Given the description of an element on the screen output the (x, y) to click on. 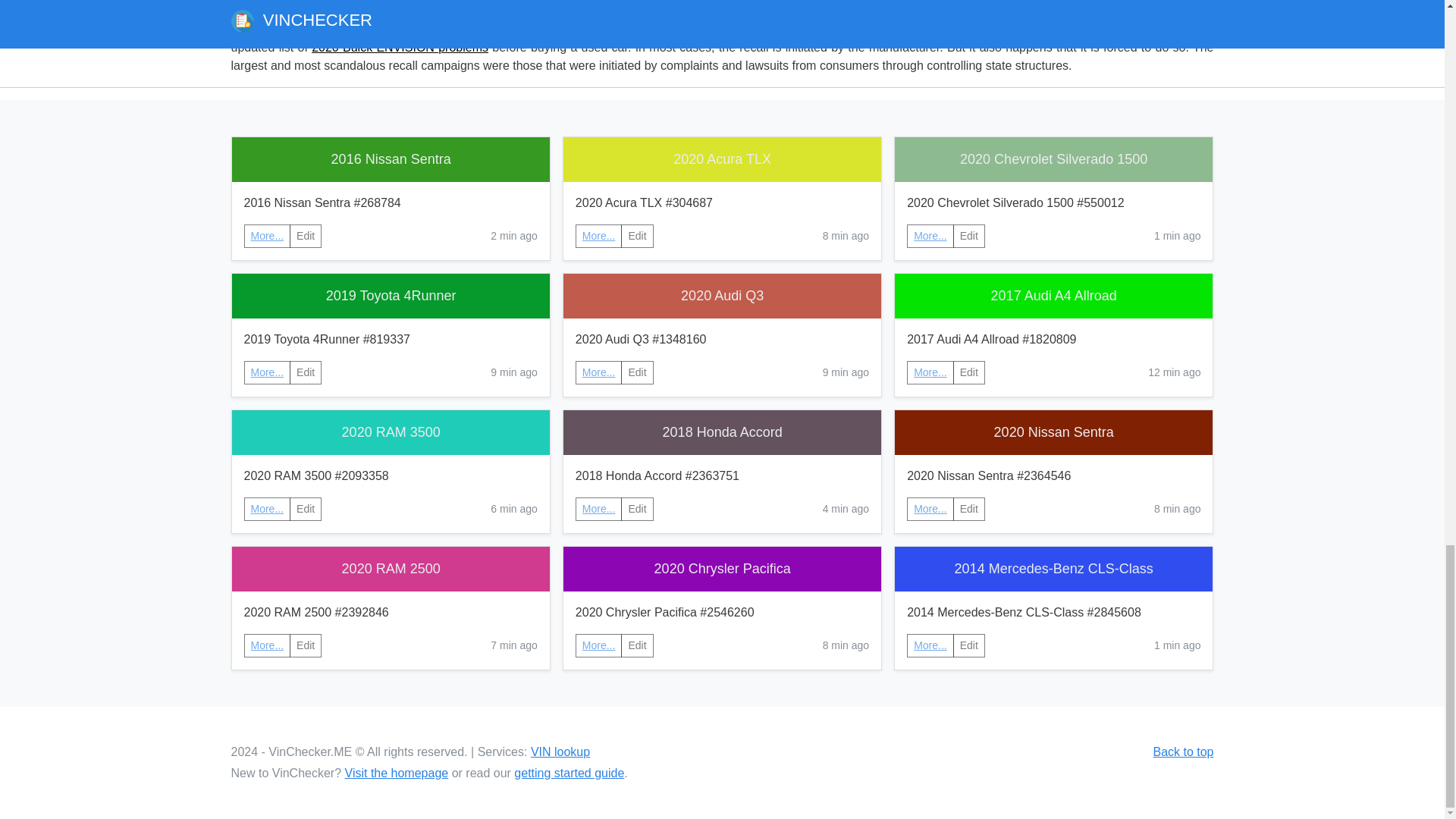
More... (598, 235)
More... (599, 508)
Edit (305, 372)
More... (930, 372)
2018 Honda Accord (721, 432)
2020 RAM 2500 (390, 569)
Edit (305, 508)
2017 Audi A4 Allroad (1053, 295)
2020 Buick ENVISION problems (399, 47)
Edit (305, 236)
More... (598, 508)
More... (267, 508)
More... (267, 372)
More... (930, 236)
Edit (636, 508)
